Given the description of an element on the screen output the (x, y) to click on. 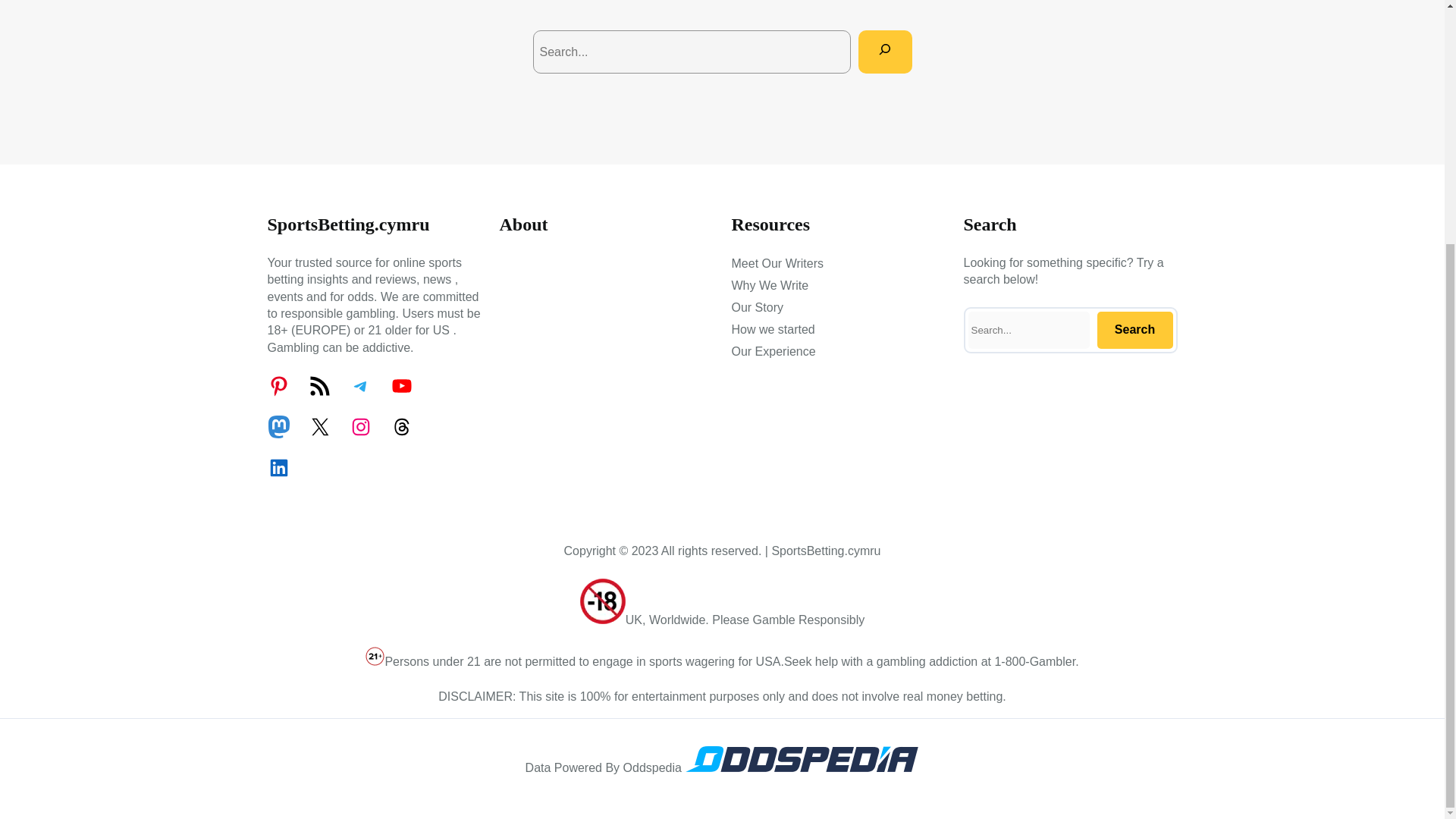
Threads (401, 426)
Meet Our Writers (777, 263)
Oddspedia (801, 767)
X (318, 426)
Oddspedia (801, 759)
Mastodon (277, 426)
Our Story (756, 307)
Pinterest (277, 385)
Instagram (360, 426)
RSS Feed (318, 385)
LinkedIn (277, 467)
Why We Write (769, 285)
How we started (771, 330)
Telegram (360, 385)
Our Experience (772, 352)
